Given the description of an element on the screen output the (x, y) to click on. 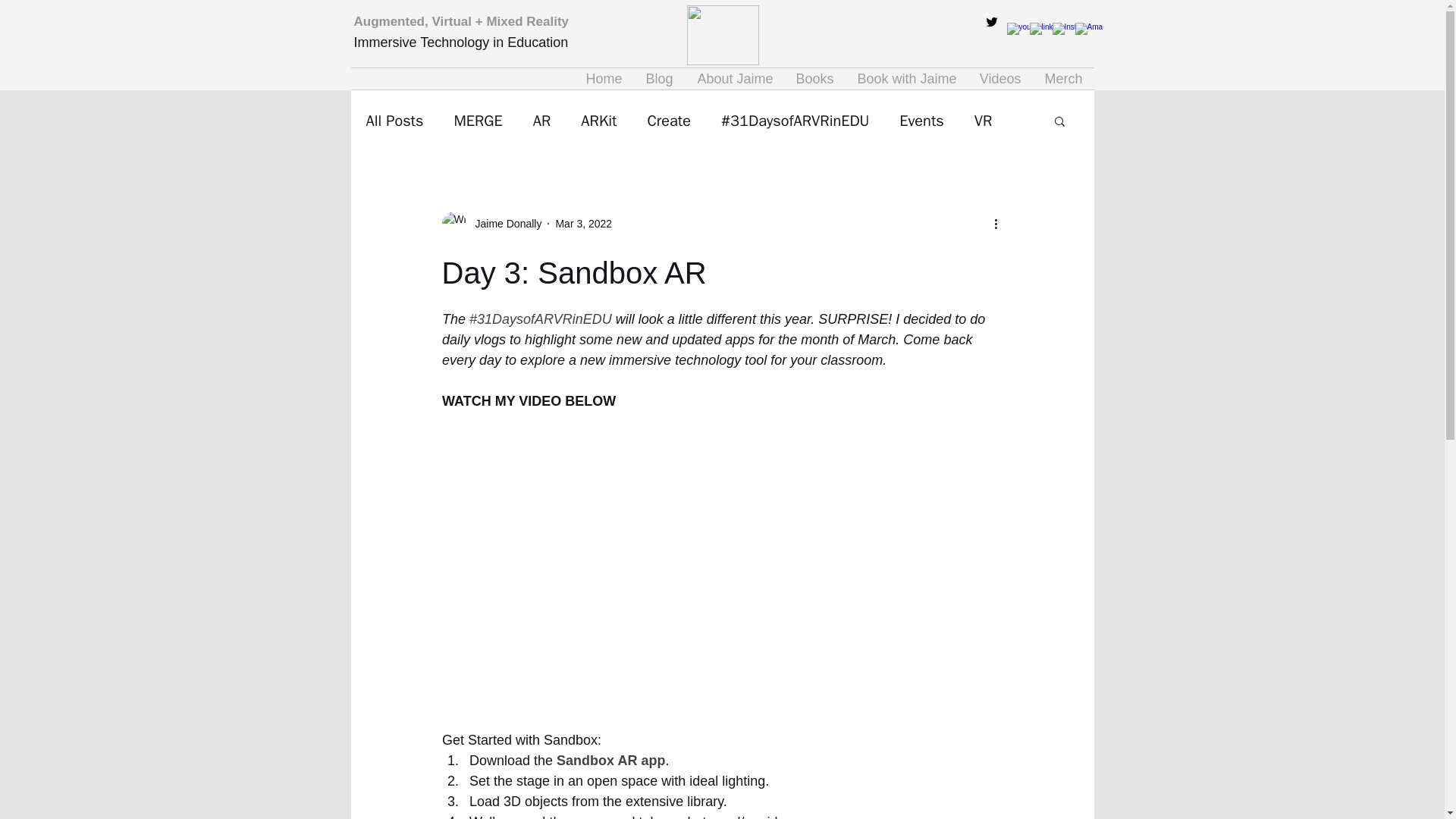
Sandbox AR app (610, 760)
Home (603, 78)
Videos (1000, 78)
MERGE (477, 120)
Mar 3, 2022 (582, 223)
Create (668, 120)
AR (541, 120)
Events (921, 120)
Book with Jaime (906, 78)
Jaime Donally (503, 223)
